Given the description of an element on the screen output the (x, y) to click on. 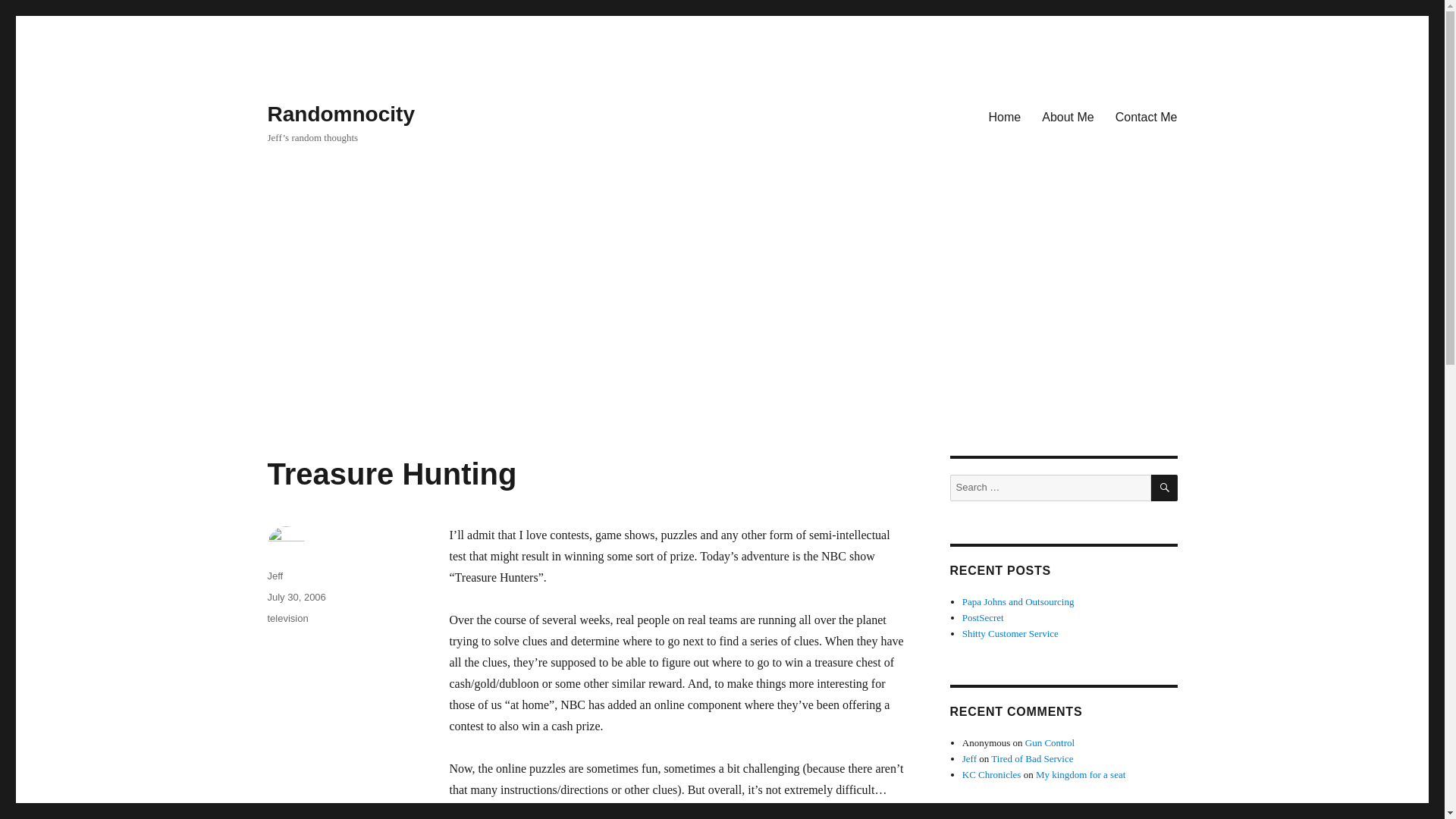
Home (1005, 116)
Shitty Customer Service (1010, 633)
July 30, 2006 (295, 596)
Gun Control (1049, 742)
Papa Johns and Outsourcing (1018, 601)
Tired of Bad Service (1032, 758)
Contact Me (1146, 116)
Jeff (274, 575)
Jeff (969, 758)
